Given the description of an element on the screen output the (x, y) to click on. 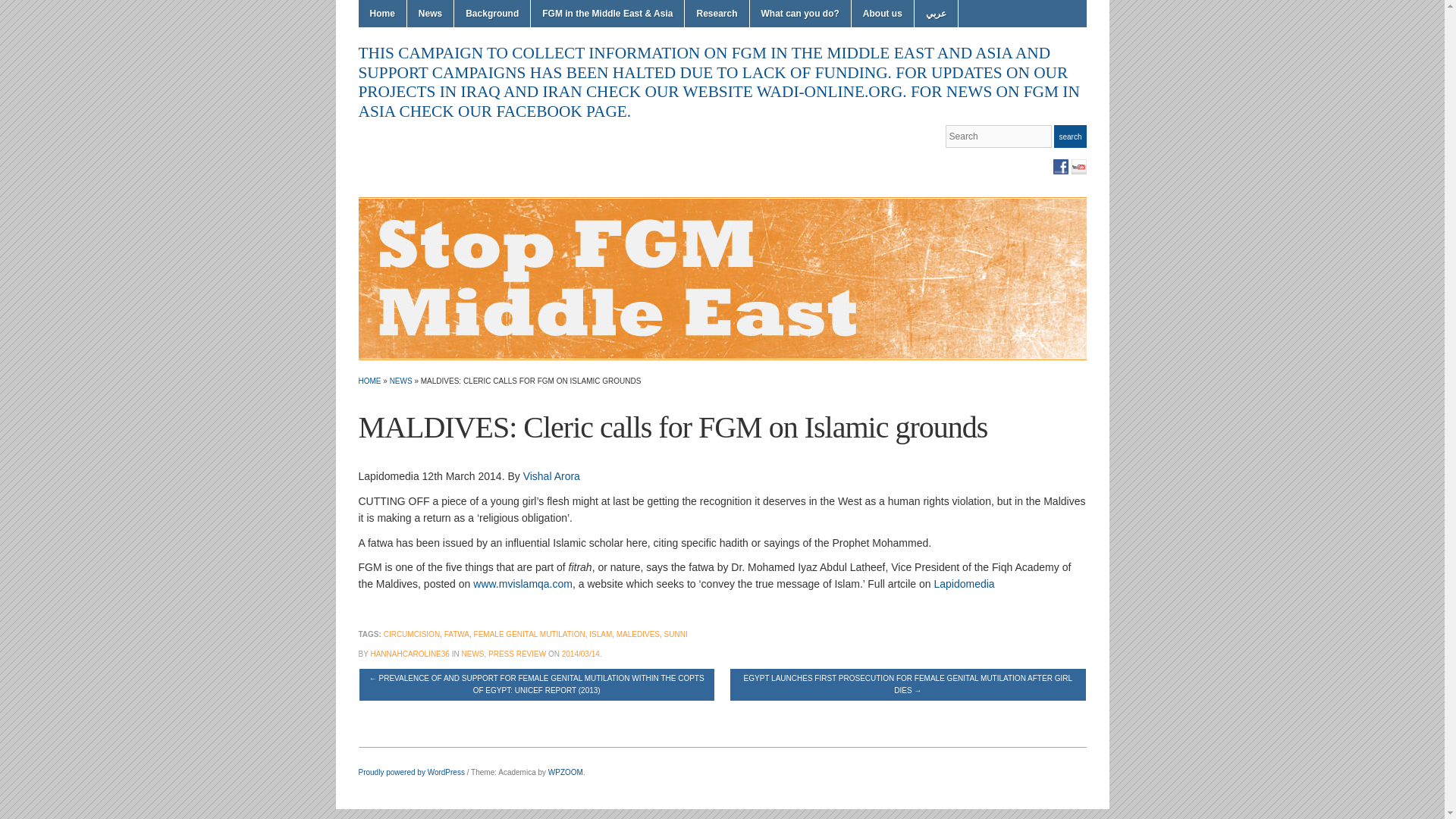
YouTube (1078, 166)
Facebook (1060, 166)
search (1070, 136)
Facebook (1060, 166)
Background (491, 13)
Research (716, 13)
About us (882, 13)
10:53 AM (580, 654)
View all posts by hannahcaroline36 (408, 654)
News (429, 13)
